Given the description of an element on the screen output the (x, y) to click on. 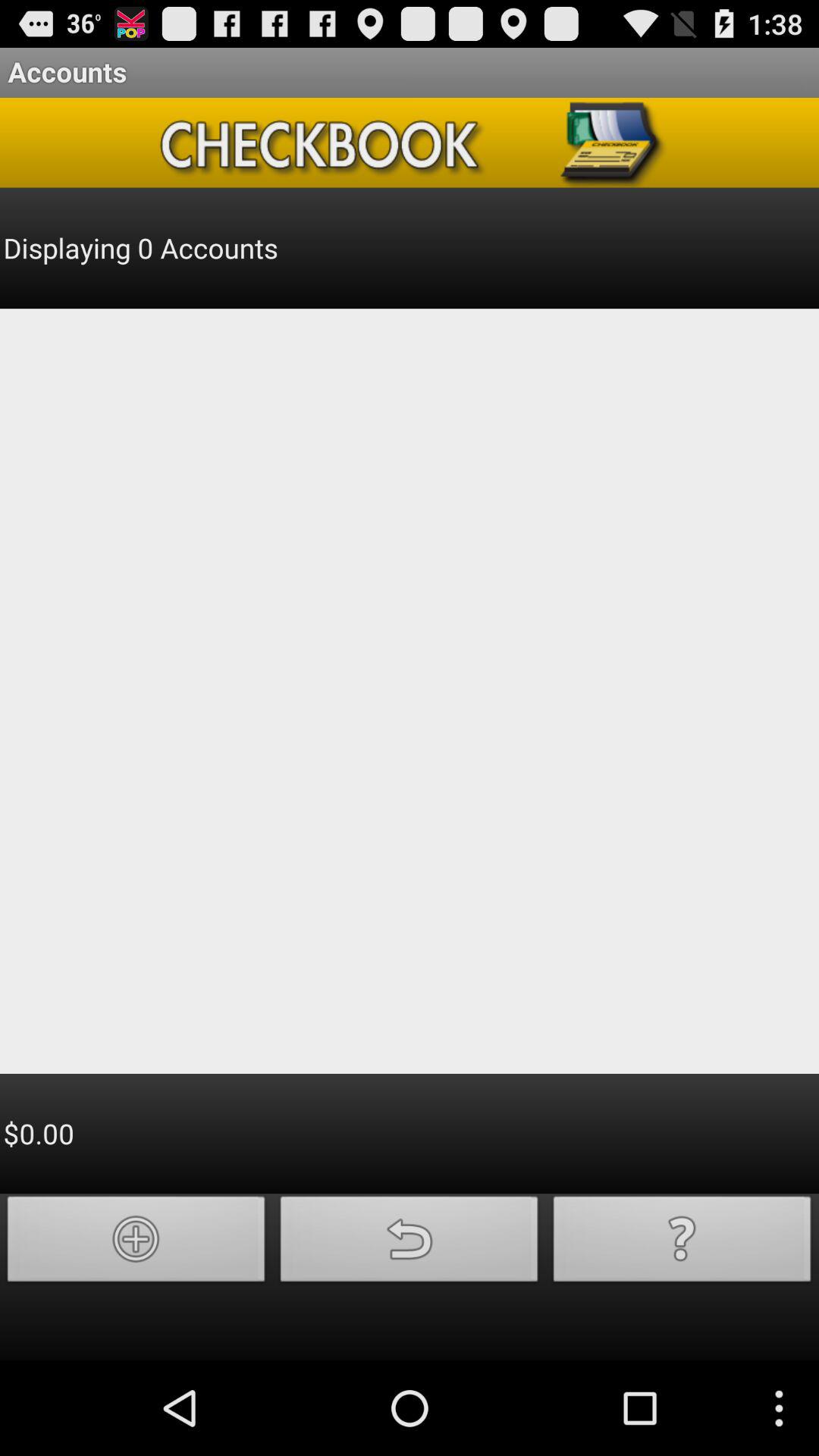
enter new item (136, 1243)
